Given the description of an element on the screen output the (x, y) to click on. 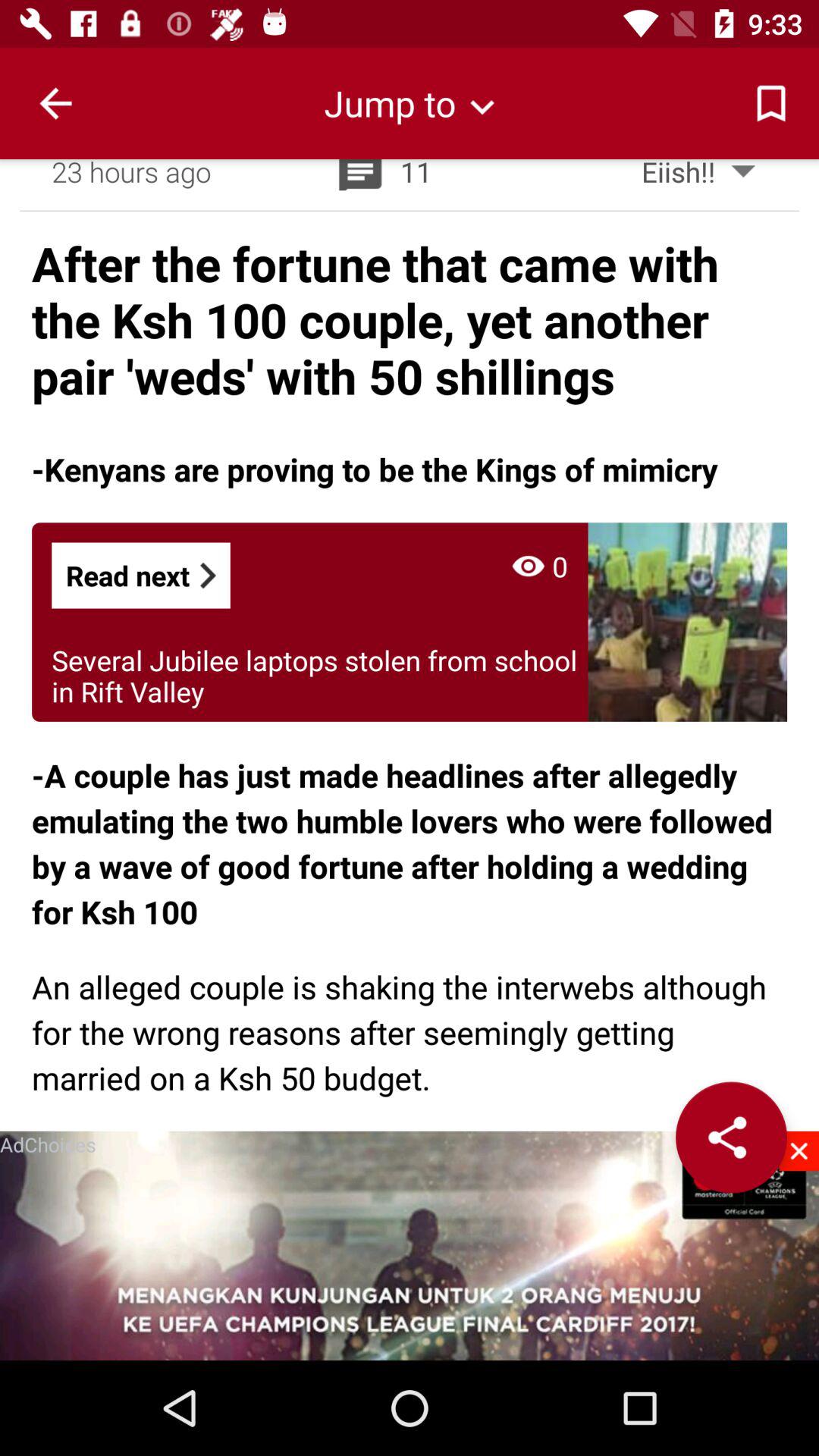
enclose the video (799, 1151)
